Given the description of an element on the screen output the (x, y) to click on. 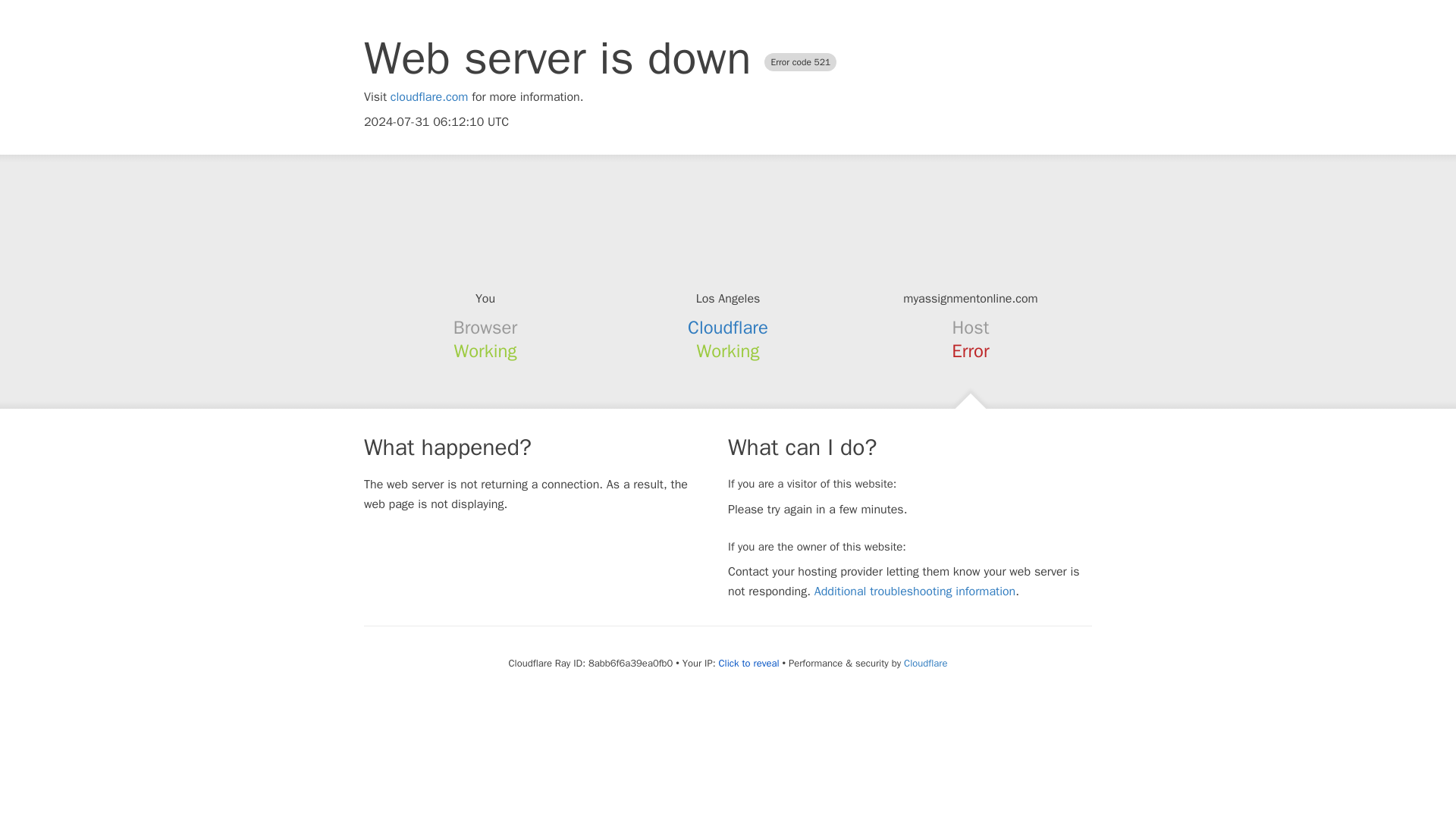
Cloudflare (727, 327)
Additional troubleshooting information (913, 590)
Click to reveal (748, 663)
Cloudflare (925, 662)
cloudflare.com (429, 96)
